Given the description of an element on the screen output the (x, y) to click on. 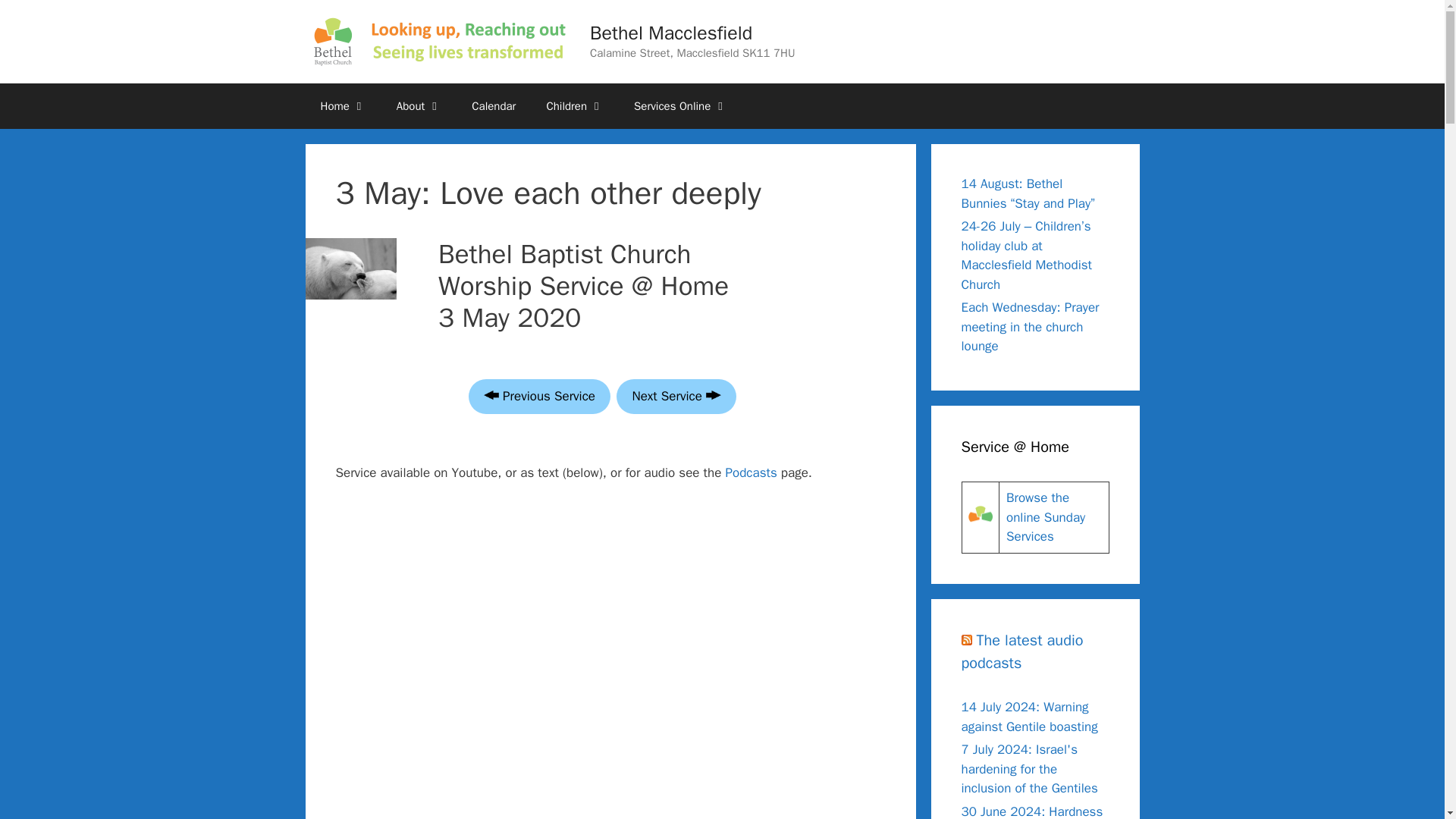
Bethel Macclesfield (670, 33)
Calendar (494, 105)
Previous Service (539, 396)
Services Online (680, 105)
Children (574, 105)
Next Service (675, 396)
About (419, 105)
Home (342, 105)
Podcasts (750, 472)
